Given the description of an element on the screen output the (x, y) to click on. 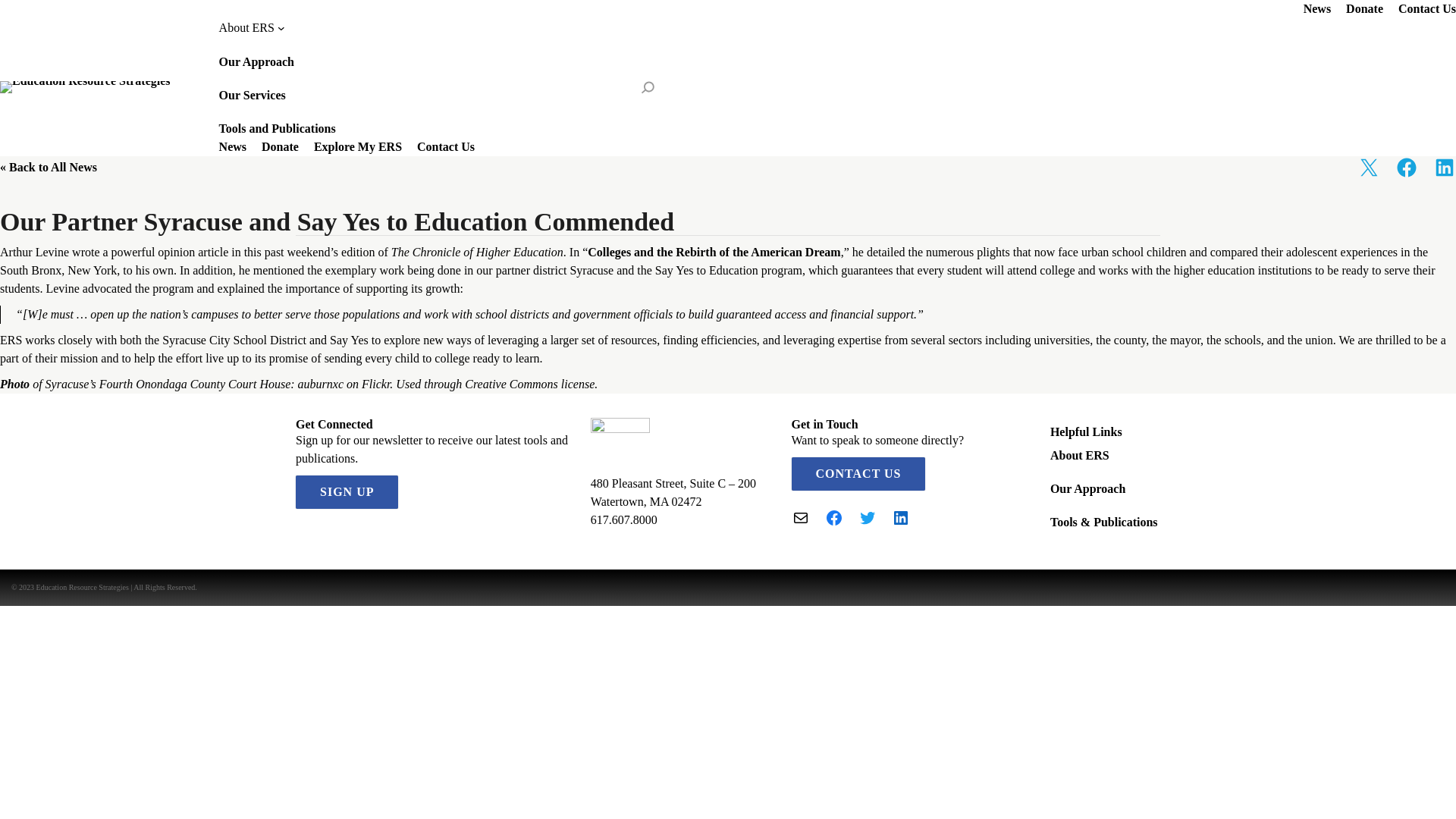
News (232, 147)
Tools and Publications (277, 128)
Colleges and the Rebirth of the American Dream (714, 251)
SIGN UP (346, 491)
LinkedIn (900, 517)
About ERS (1079, 455)
Share on X (1368, 167)
Twitter (867, 517)
Share on Facebook (1406, 167)
About ERS (252, 27)
